Given the description of an element on the screen output the (x, y) to click on. 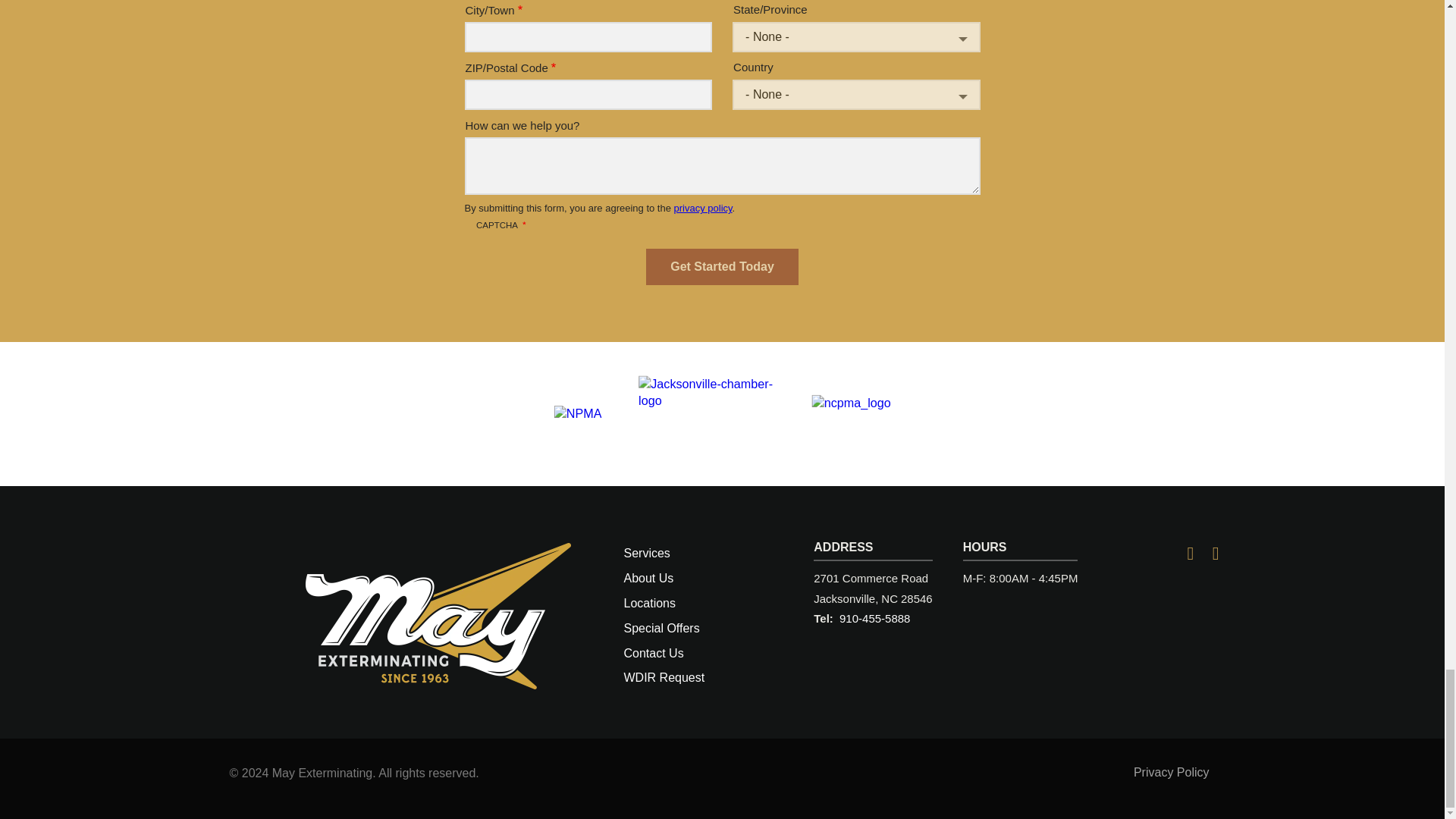
Get Started Today (721, 266)
